Given the description of an element on the screen output the (x, y) to click on. 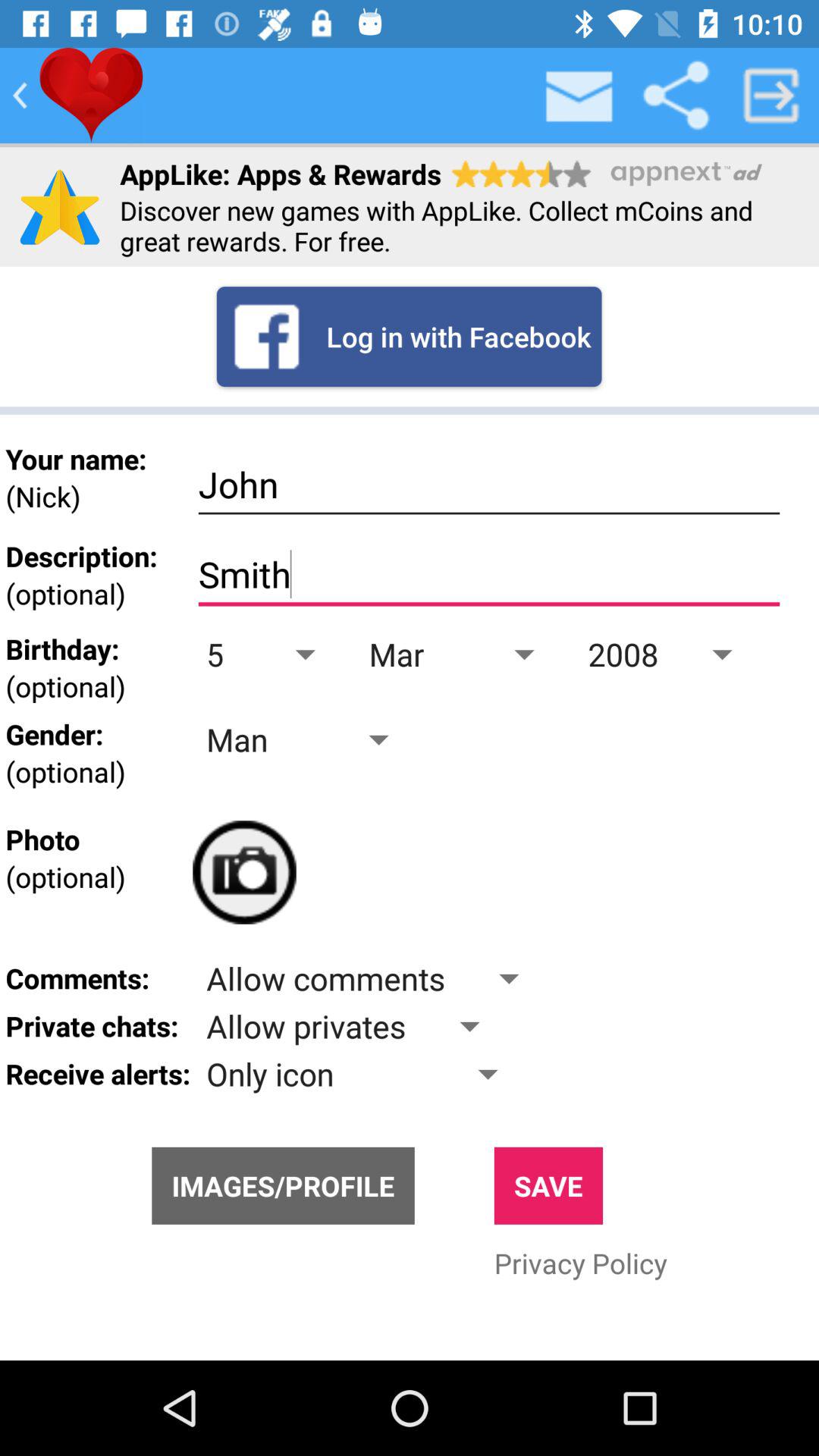
upload photo (244, 872)
